Given the description of an element on the screen output the (x, y) to click on. 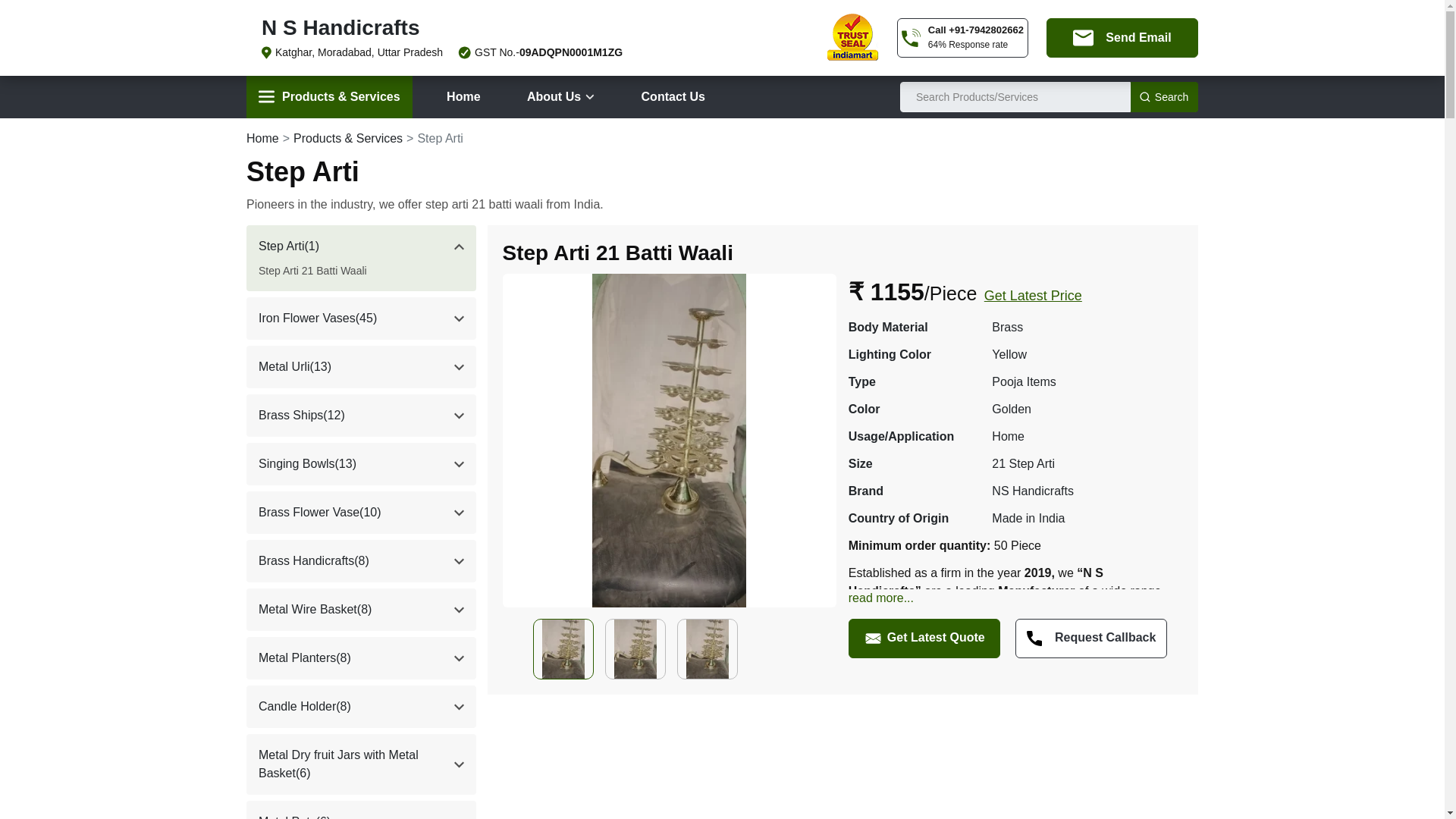
Send Email (1122, 37)
About Us (561, 96)
Contact Us (672, 96)
Home (462, 96)
Home (262, 137)
